Given the description of an element on the screen output the (x, y) to click on. 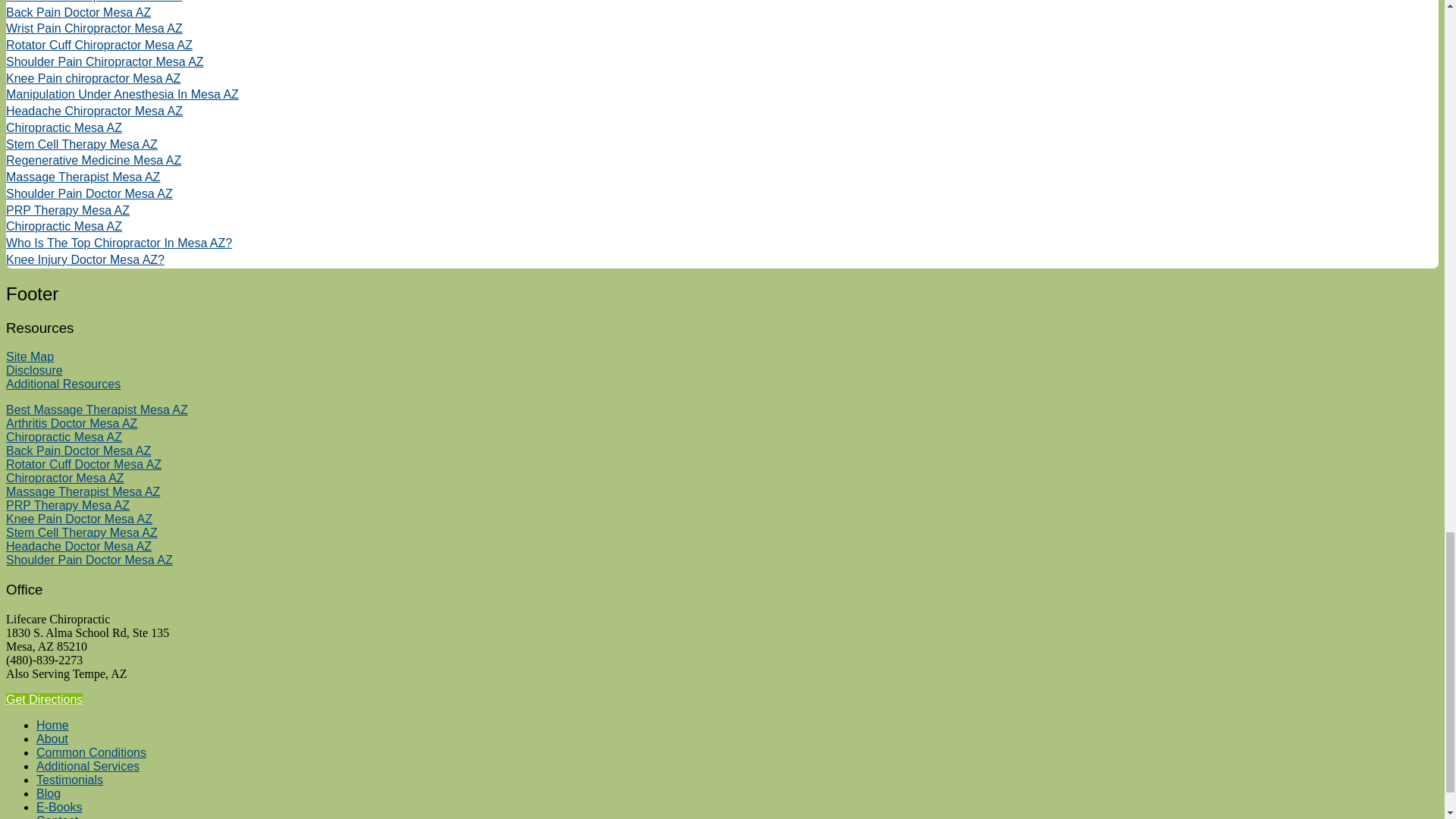
Back Pain Doctor Mesa AZ (78, 11)
Wrist Pain Chiropractor Mesa AZ (94, 28)
Shoulder Pain Chiropractor Mesa AZ (104, 61)
Back Pain Chiropractor Mesa AZ (93, 1)
Regenerative Medicine Mesa AZ (92, 160)
Chiropractic Mesa AZ (63, 127)
Lifecare Chiropractic Home (52, 725)
Rotator Cuff Chiropractor Mesa AZ (98, 44)
Headache Chiropractor Mesa AZ (94, 110)
Knee Pain chiropractor Mesa AZ (92, 78)
